Given the description of an element on the screen output the (x, y) to click on. 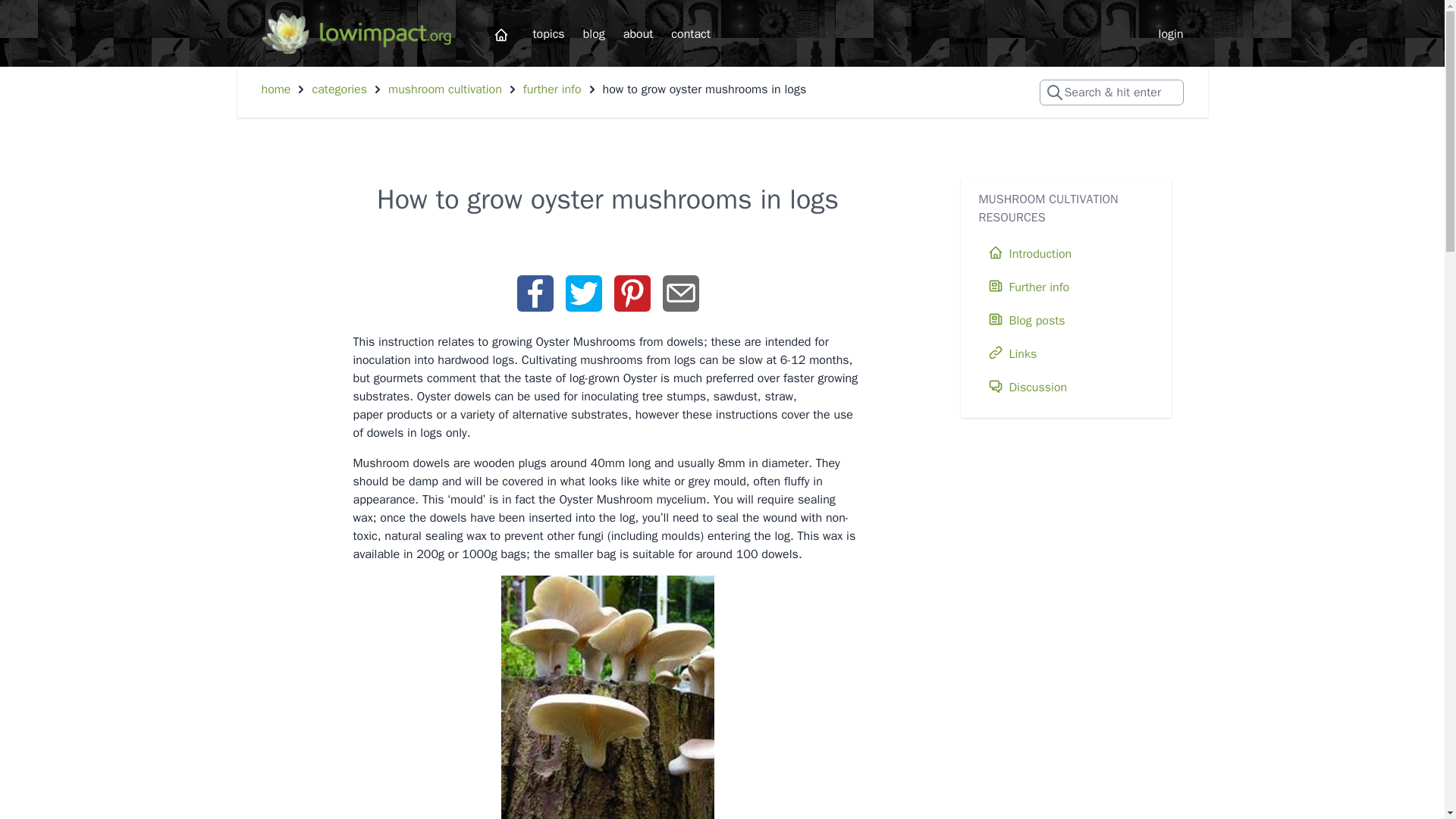
Discussion (1065, 387)
how-to-grow-oyster-mushrooms-in-logs (704, 89)
lowimpact.org logo (354, 33)
mushroom cultivation (445, 89)
Blog posts (1065, 320)
mushroom-cultivation (445, 89)
Links (1065, 354)
Share on Facebook (534, 293)
further info (551, 89)
Tweet (584, 293)
categories (338, 89)
Send email (680, 293)
Pin it (632, 293)
home (274, 89)
further-info (551, 89)
